Given the description of an element on the screen output the (x, y) to click on. 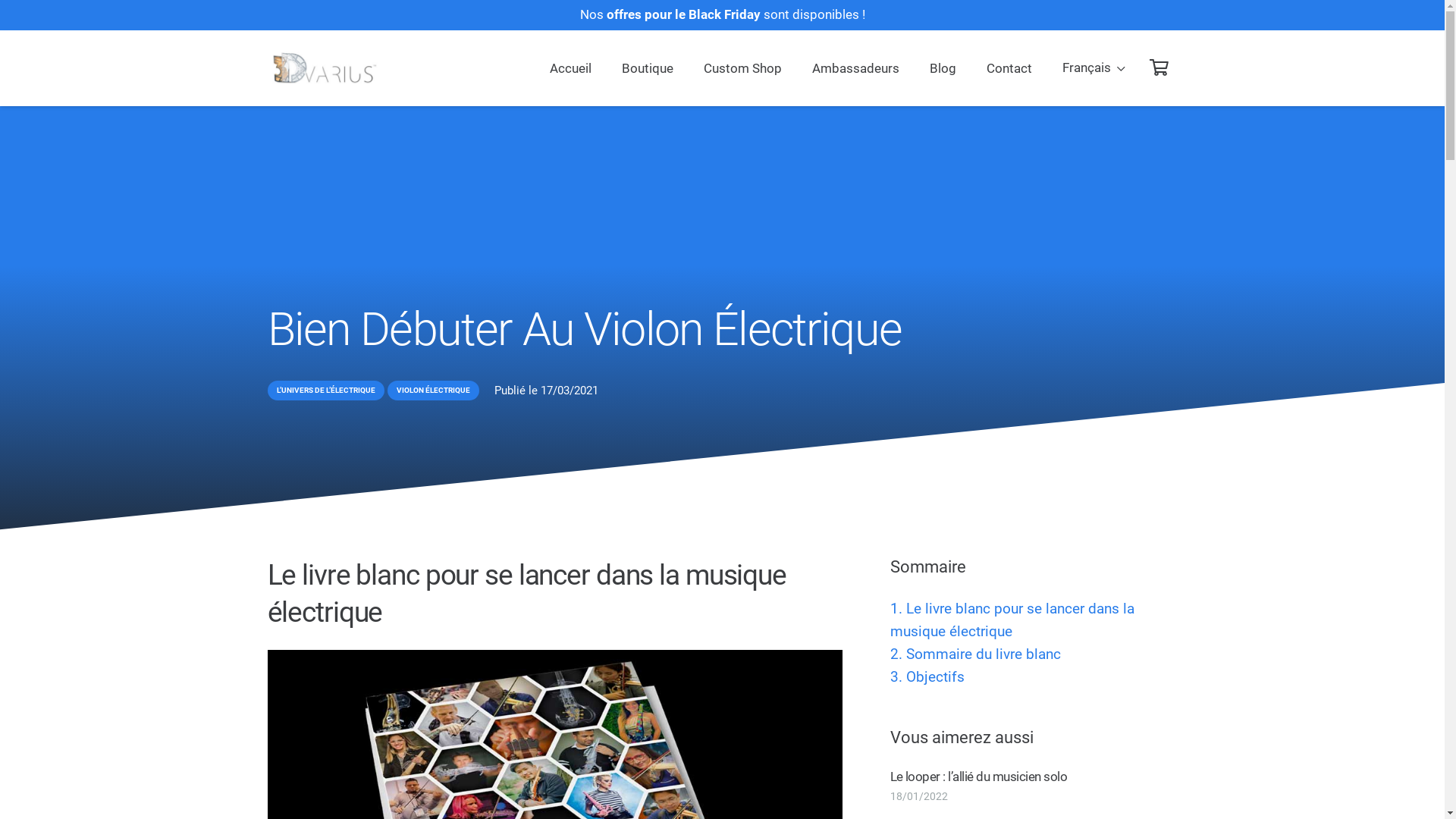
0 Element type: text (1158, 68)
Accueil Element type: text (570, 68)
3. Objectifs Element type: text (1033, 676)
offres pour le Black Friday Element type: text (683, 13)
2. Sommaire du livre blanc Element type: text (1033, 654)
Blog Element type: text (942, 68)
Ambassadeurs Element type: text (855, 68)
Custom Shop Element type: text (742, 68)
Contact Element type: text (1009, 68)
Boutique Element type: text (647, 68)
